Given the description of an element on the screen output the (x, y) to click on. 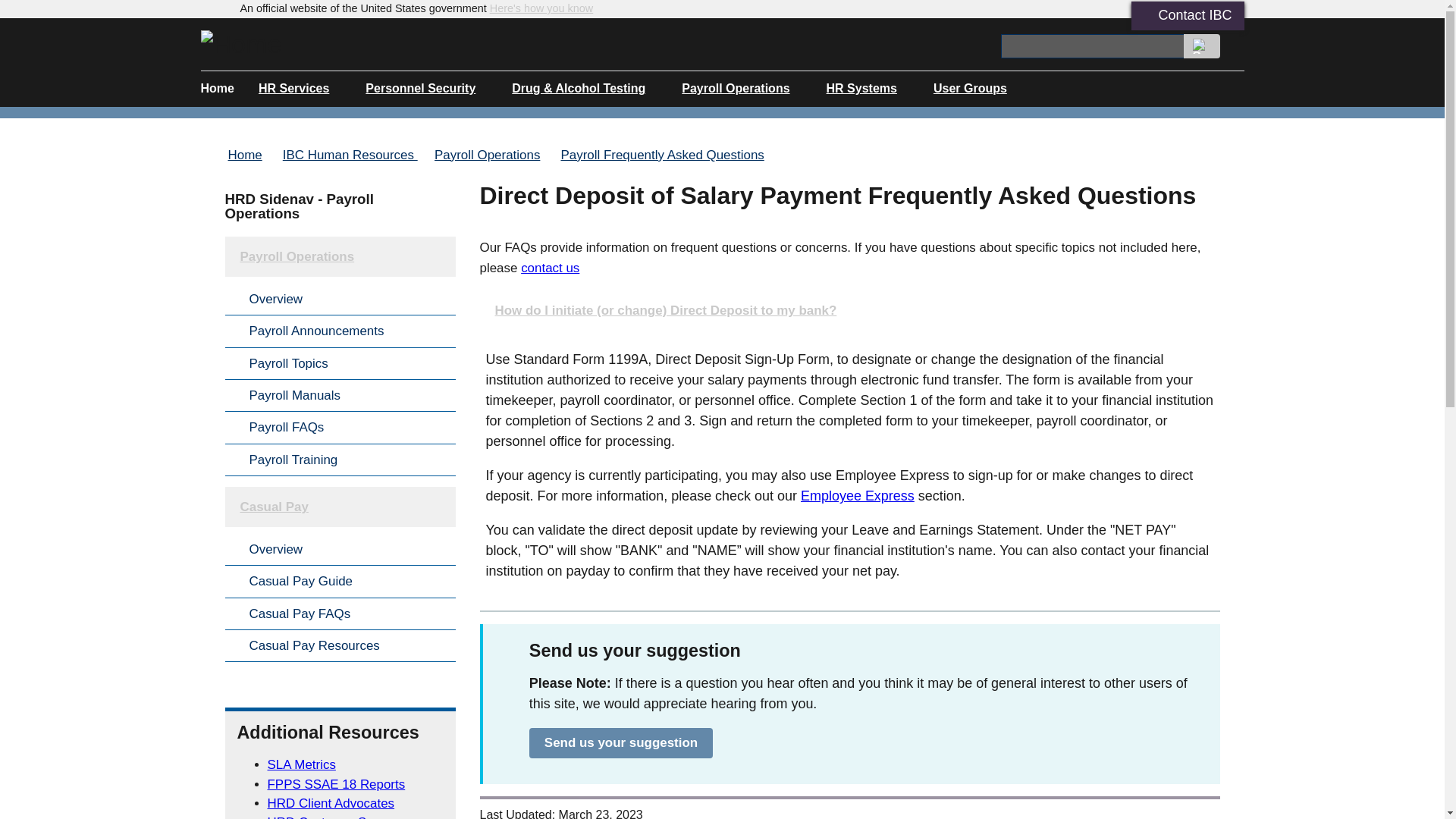
Payroll FAQs (339, 427)
Home (244, 155)
Contact IBC (1194, 14)
HR Systems (867, 88)
HR Services (299, 88)
FPPS SSAE 18 Reports (335, 784)
Payroll Manuals (339, 395)
Payroll Training (339, 459)
Home (240, 43)
Casual Pay Guide (339, 581)
SLA Metrics (300, 764)
User Groups (975, 88)
Contact IBC (1187, 15)
Thursday, March 23, 2023 - 11:16 (601, 813)
Payroll Announcements (339, 330)
